Given the description of an element on the screen output the (x, y) to click on. 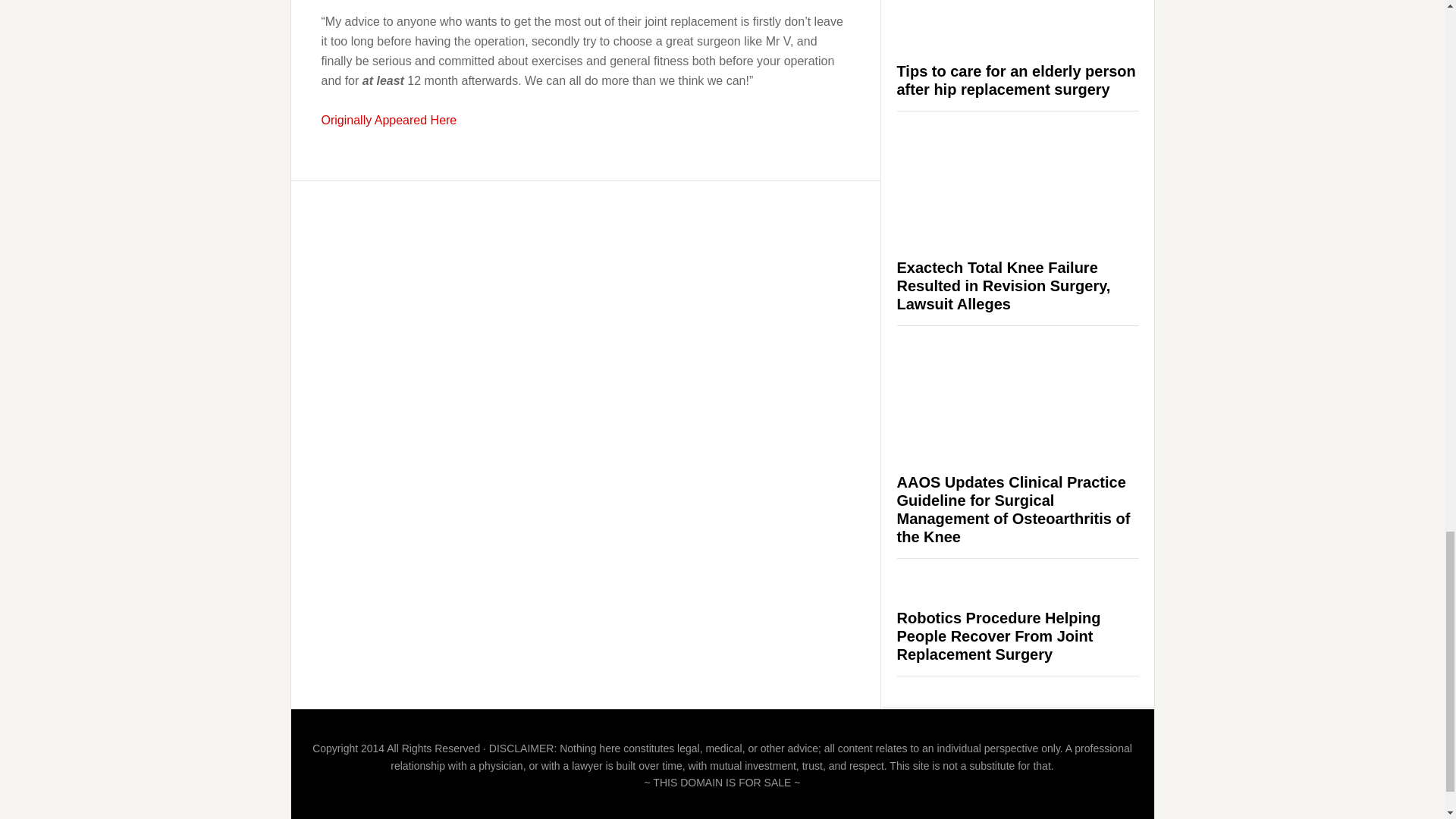
Originally Appeared Here (389, 119)
